Given the description of an element on the screen output the (x, y) to click on. 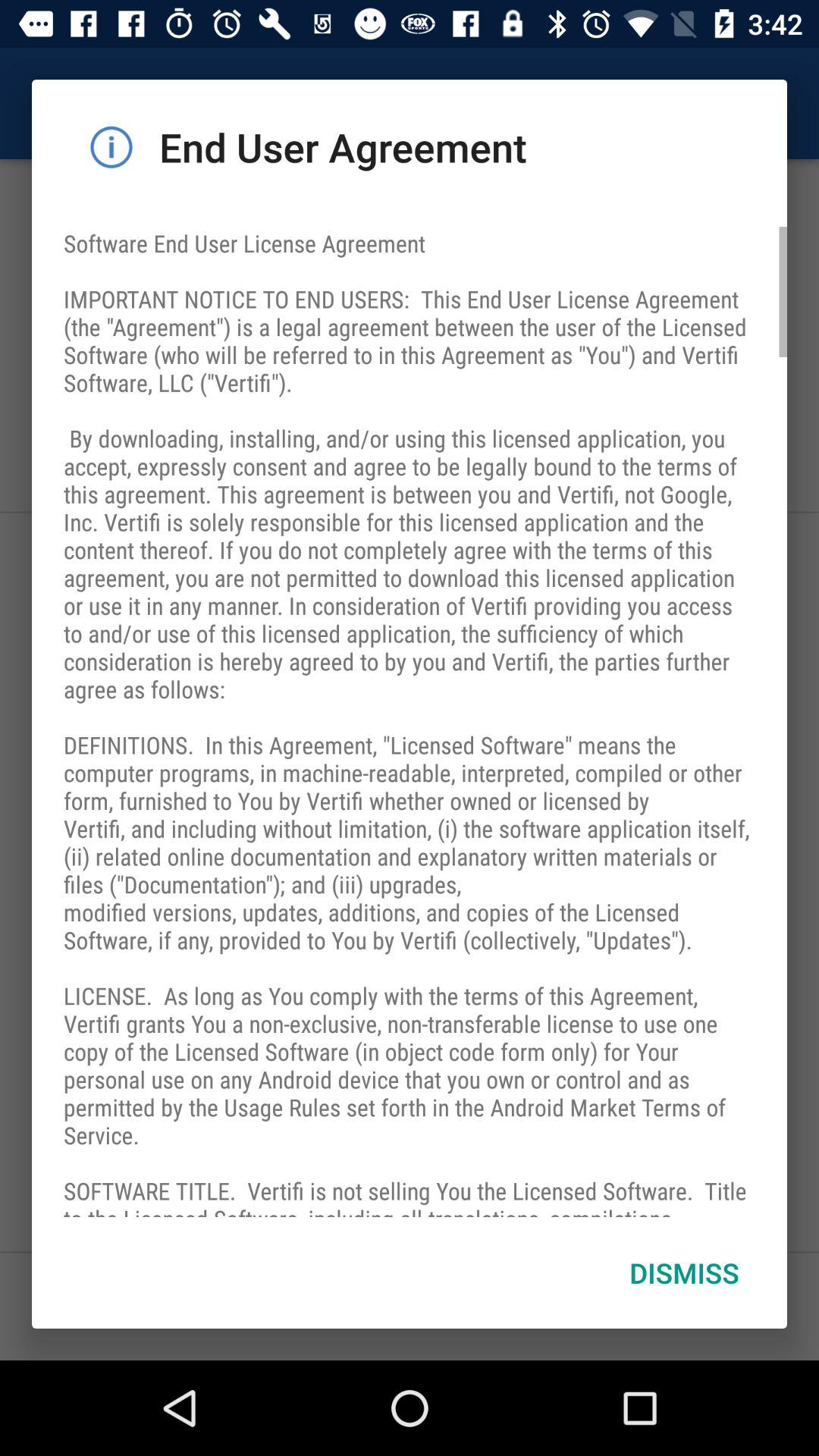
tap dismiss (684, 1272)
